Given the description of an element on the screen output the (x, y) to click on. 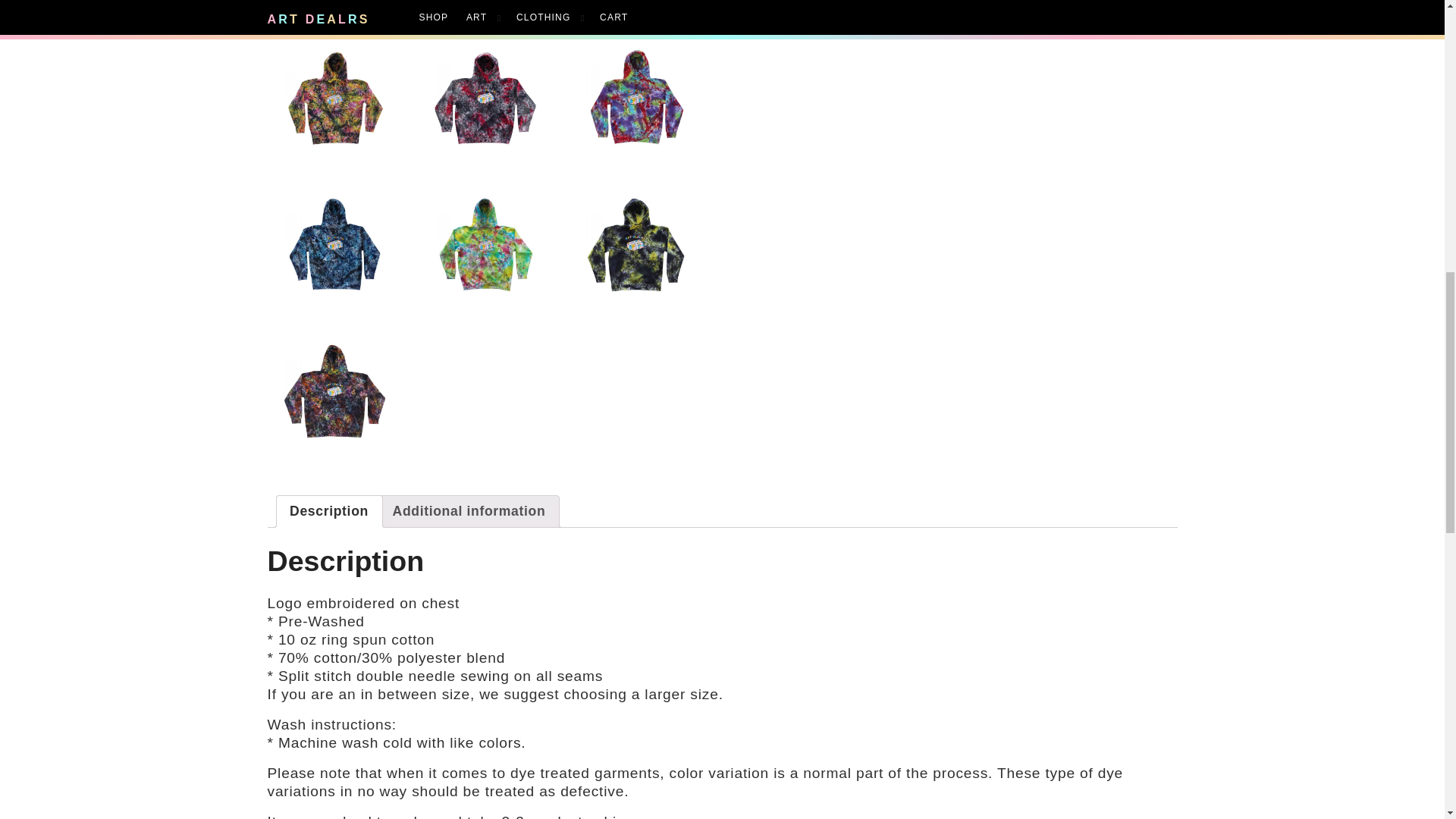
Description (328, 511)
Additional information (469, 511)
